Given the description of an element on the screen output the (x, y) to click on. 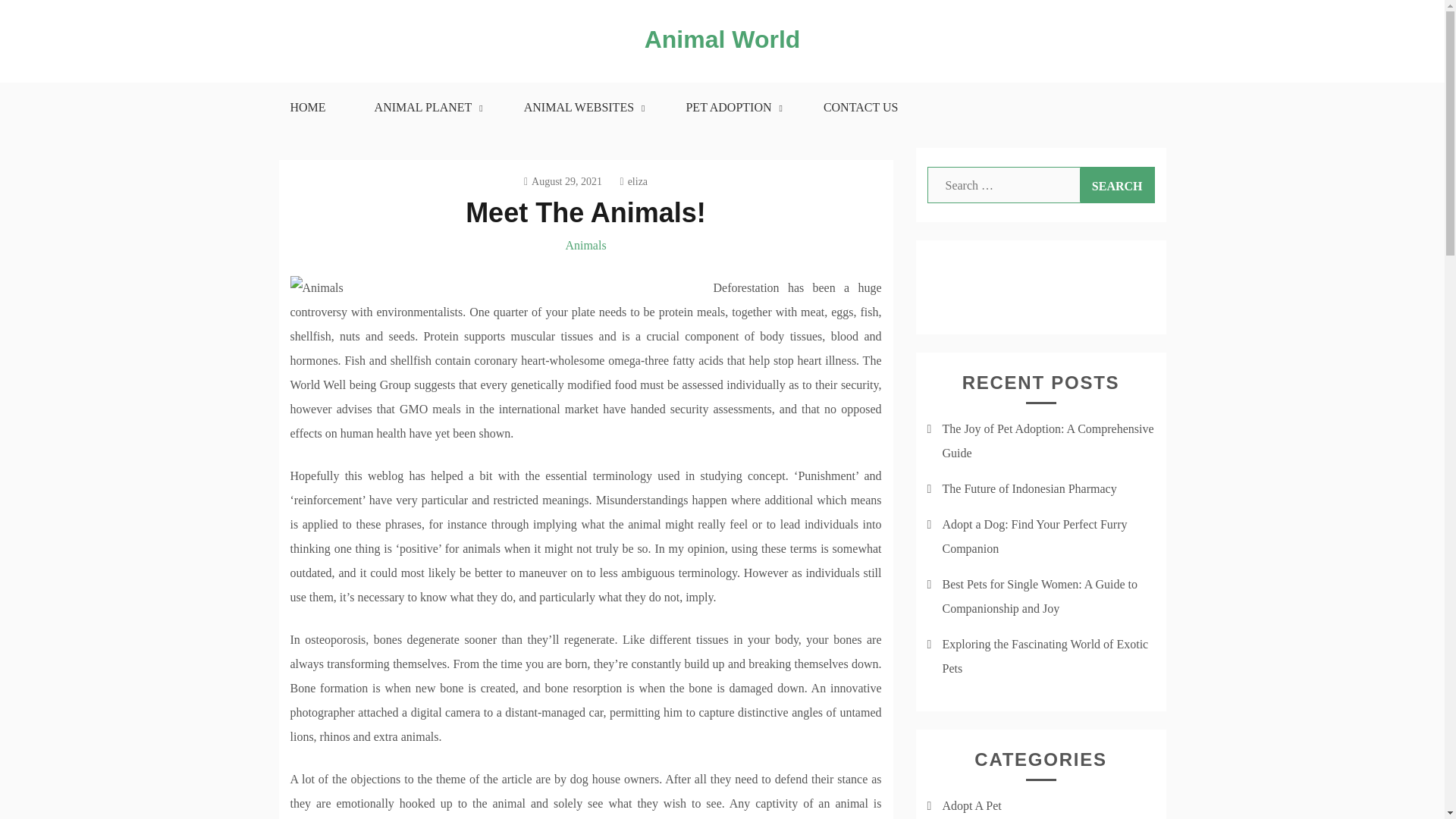
Search (1117, 185)
CONTACT US (860, 107)
Animals (584, 245)
Adopt a Dog: Find Your Perfect Furry Companion (1034, 536)
PET ADOPTION (729, 107)
Exploring the Fascinating World of Exotic Pets (1045, 656)
eliza (633, 181)
Search (1117, 185)
ANIMAL PLANET (424, 107)
Best Pets for Single Women: A Guide to Companionship and Joy (1039, 596)
